Given the description of an element on the screen output the (x, y) to click on. 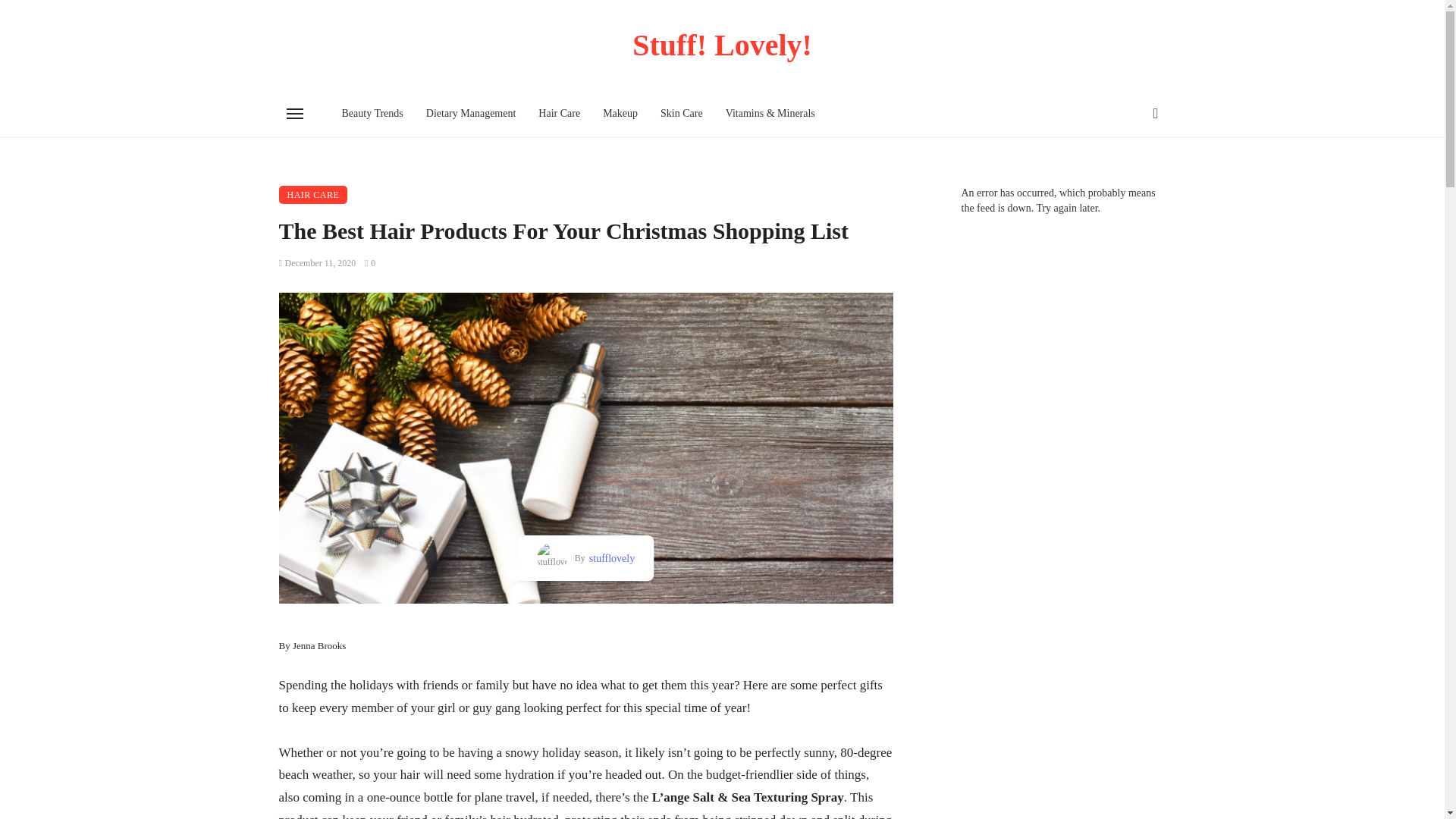
Beauty Trends (372, 113)
Posts by stufflovely (609, 558)
Hair Care (559, 113)
Makeup (620, 113)
stufflovely (609, 558)
0 Comments (370, 262)
Skin Care (681, 113)
0 (370, 262)
December 11, 2020 at 4:52 pm (317, 262)
Stuff! Lovely! (722, 45)
